Given the description of an element on the screen output the (x, y) to click on. 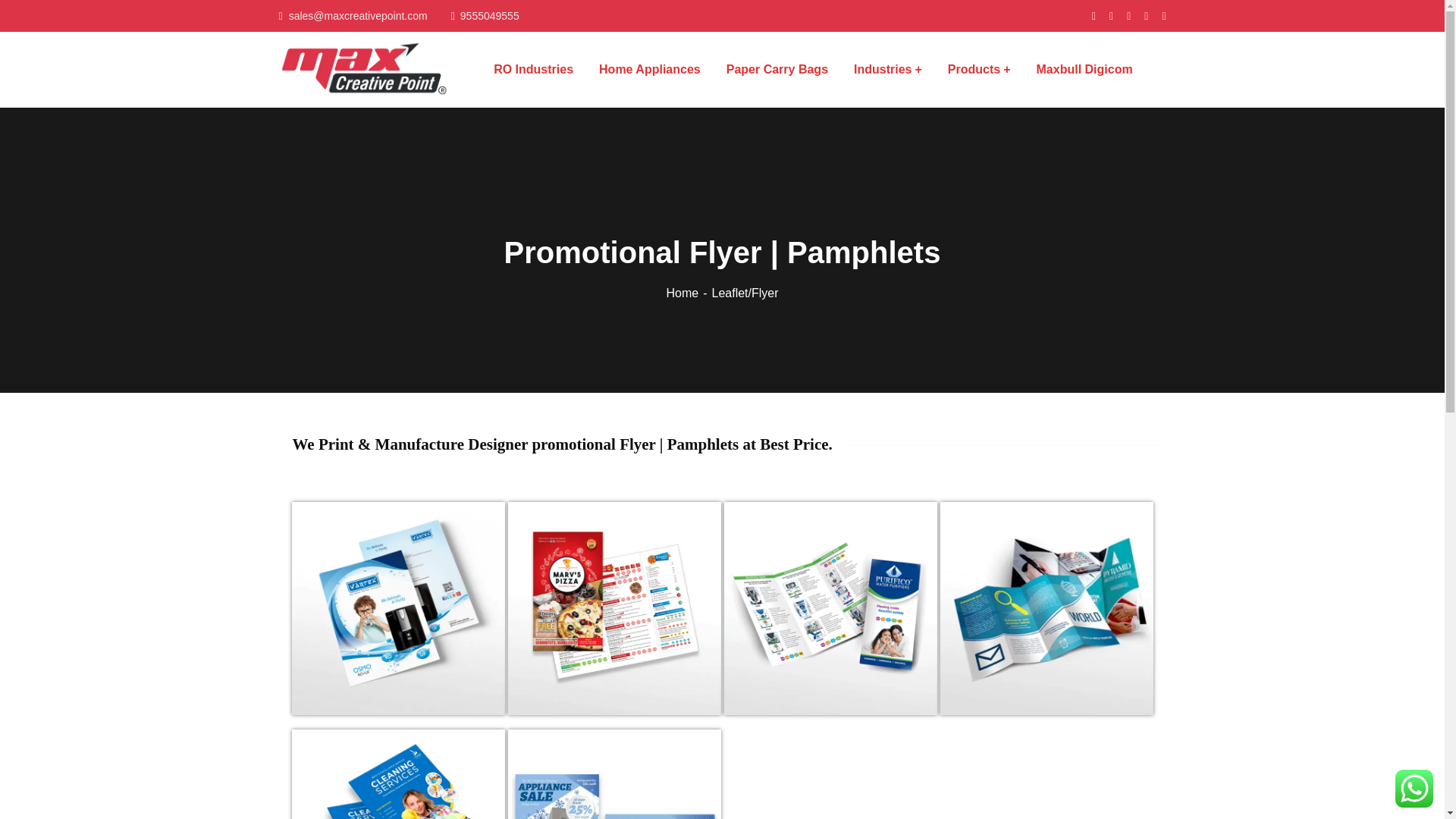
Paper Carry Bags (777, 69)
9555049555 (484, 15)
Products (978, 69)
Maxbull Digicom (1084, 69)
Industries (887, 69)
RO Industries (533, 69)
Home (688, 292)
Max Creative Point (365, 68)
Home Appliances (649, 69)
